Given the description of an element on the screen output the (x, y) to click on. 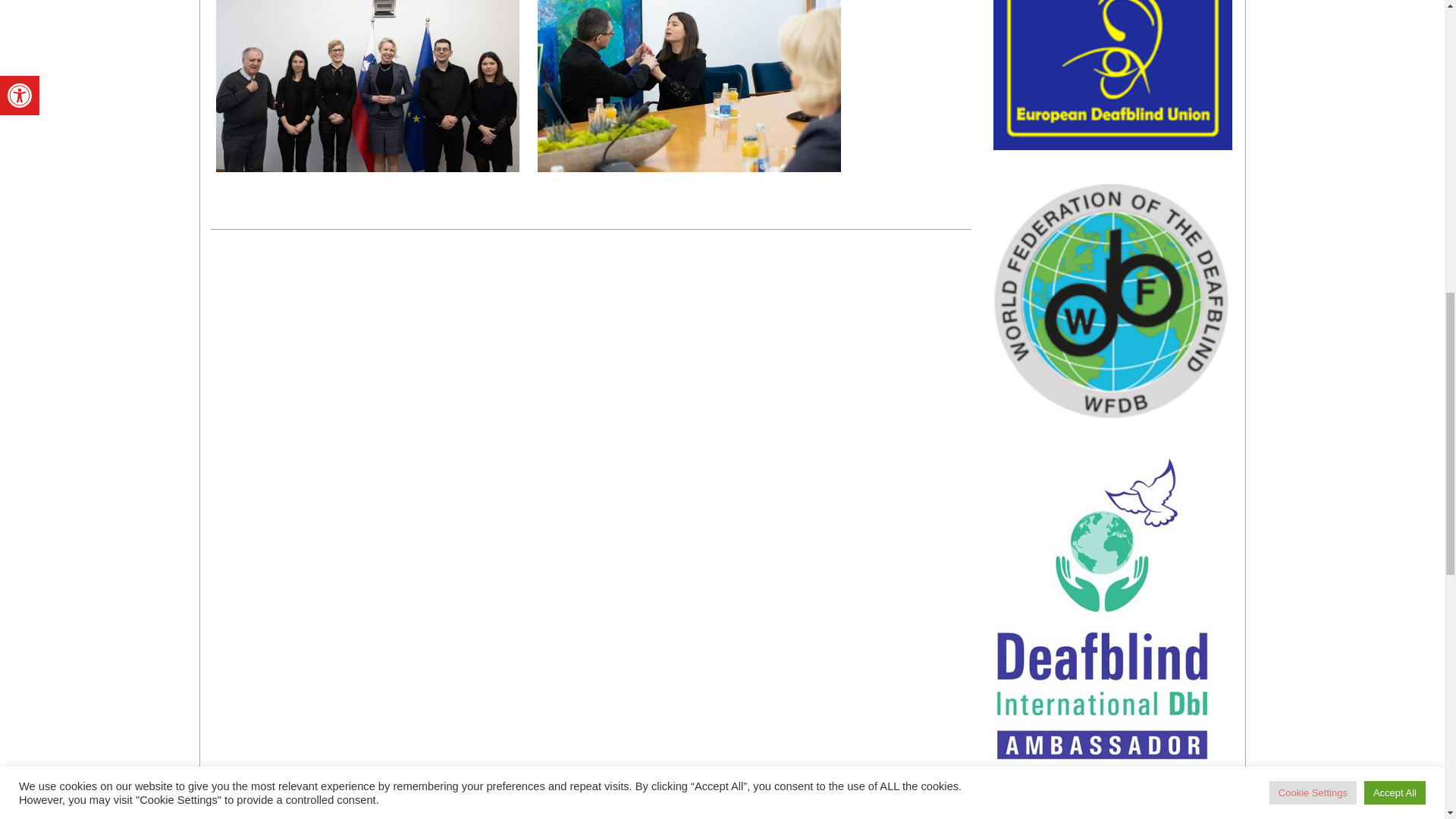
LR-logo-primarni (1111, 806)
